Given the description of an element on the screen output the (x, y) to click on. 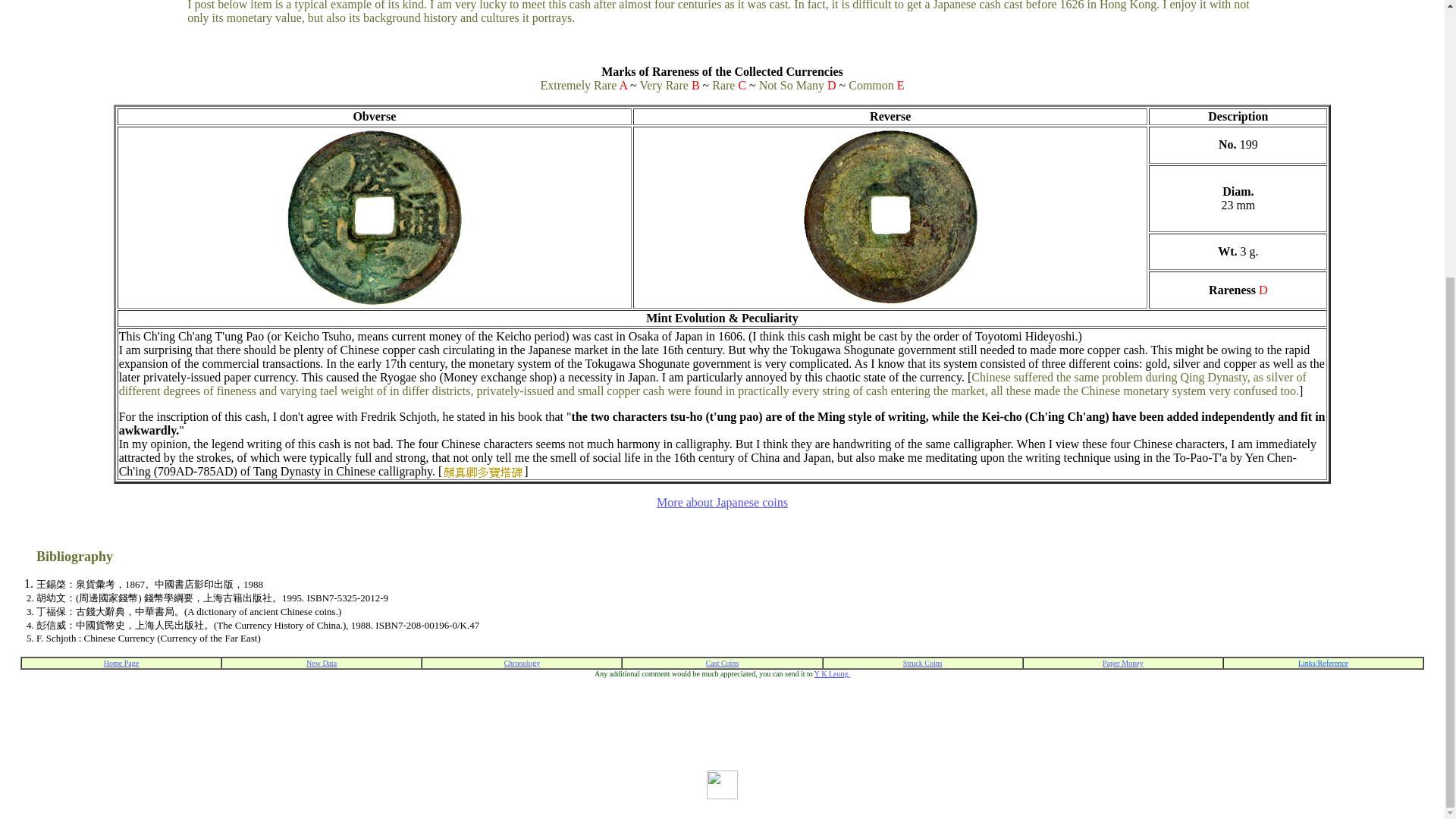
New Data (320, 661)
Chronology (521, 661)
Cast Coins (722, 661)
Y K Leung. (831, 671)
More about Japanese coins (721, 502)
Paper Money (1122, 661)
Struck Coins (922, 661)
Home Page (120, 661)
